Given the description of an element on the screen output the (x, y) to click on. 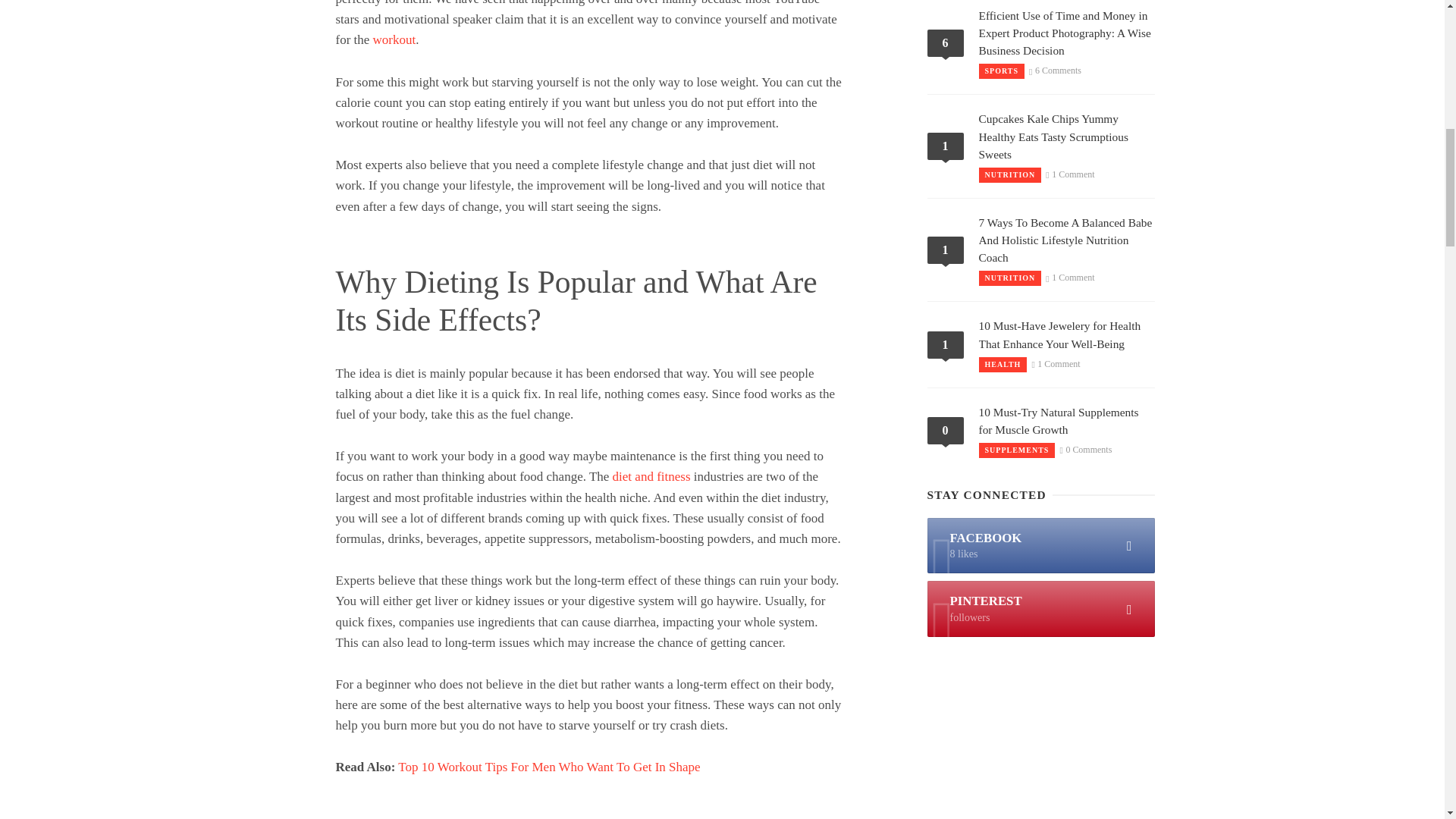
Top 10 Workout Tips For Men Who Want To Get In Shape (548, 766)
diet and fitness (651, 476)
workout (394, 39)
